Given the description of an element on the screen output the (x, y) to click on. 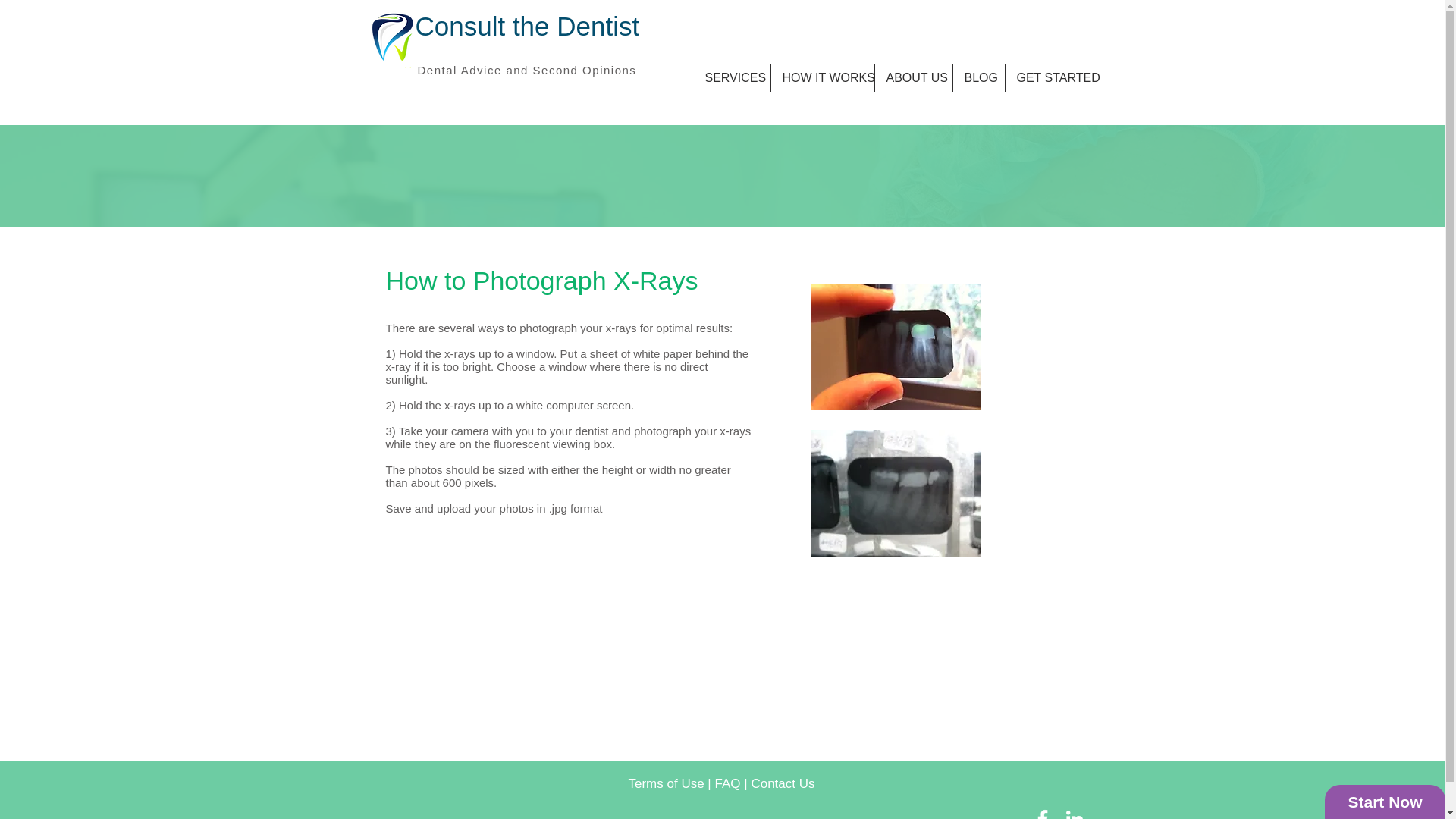
ABOUT US (913, 77)
Consult the Dentist (527, 25)
HOW IT WORKS (821, 77)
FAQ (727, 783)
Contact Us (782, 783)
SERVICES (731, 77)
Dental Advice and Second Opinions (526, 69)
Terms of Use (665, 783)
BLOG (978, 77)
GET STARTED (1052, 77)
